Given the description of an element on the screen output the (x, y) to click on. 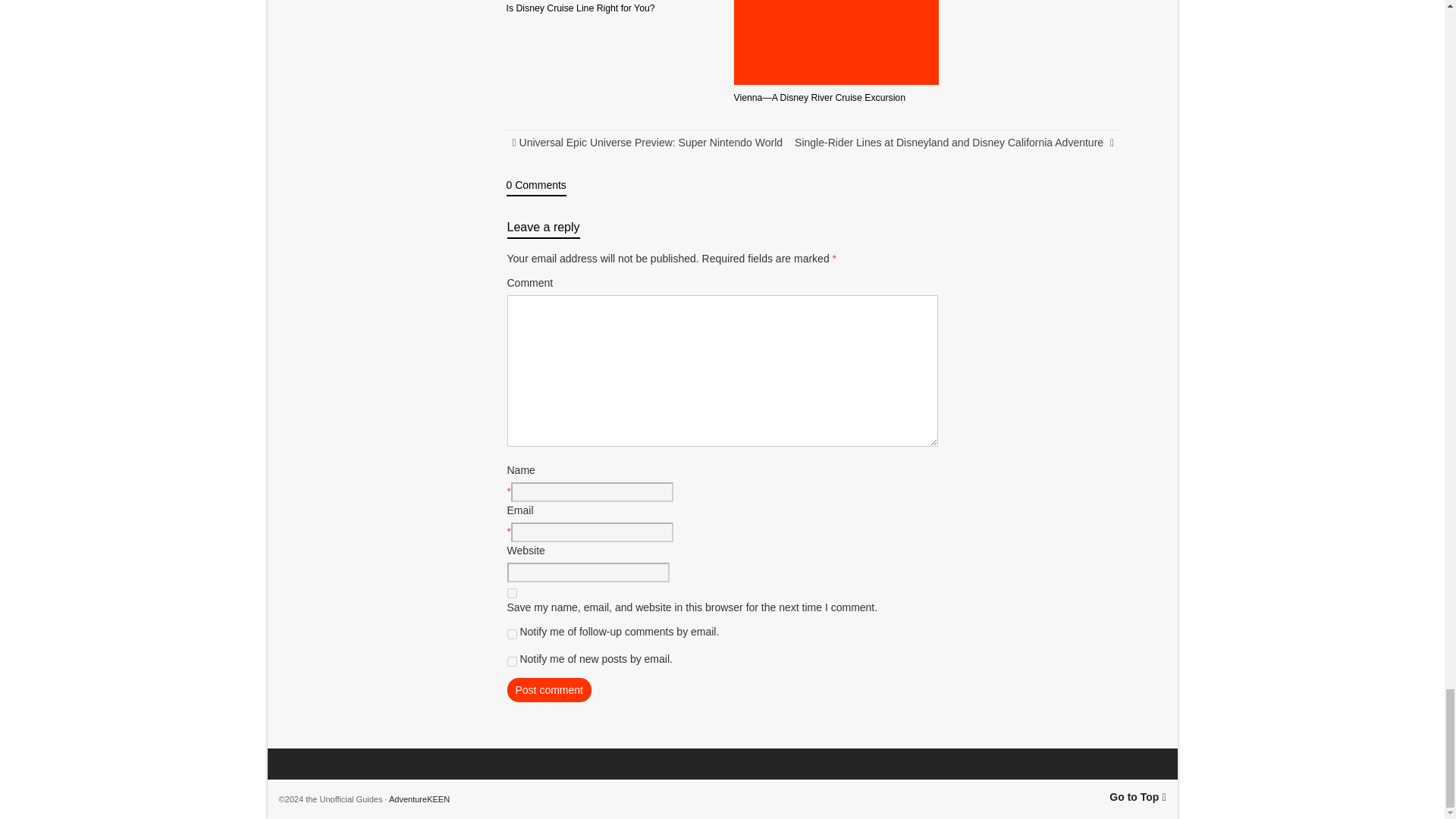
subscribe (511, 661)
Permanent Link to Is Disney Cruise Line Right for You? (580, 7)
yes (511, 593)
subscribe (511, 634)
Post comment (548, 689)
